Given the description of an element on the screen output the (x, y) to click on. 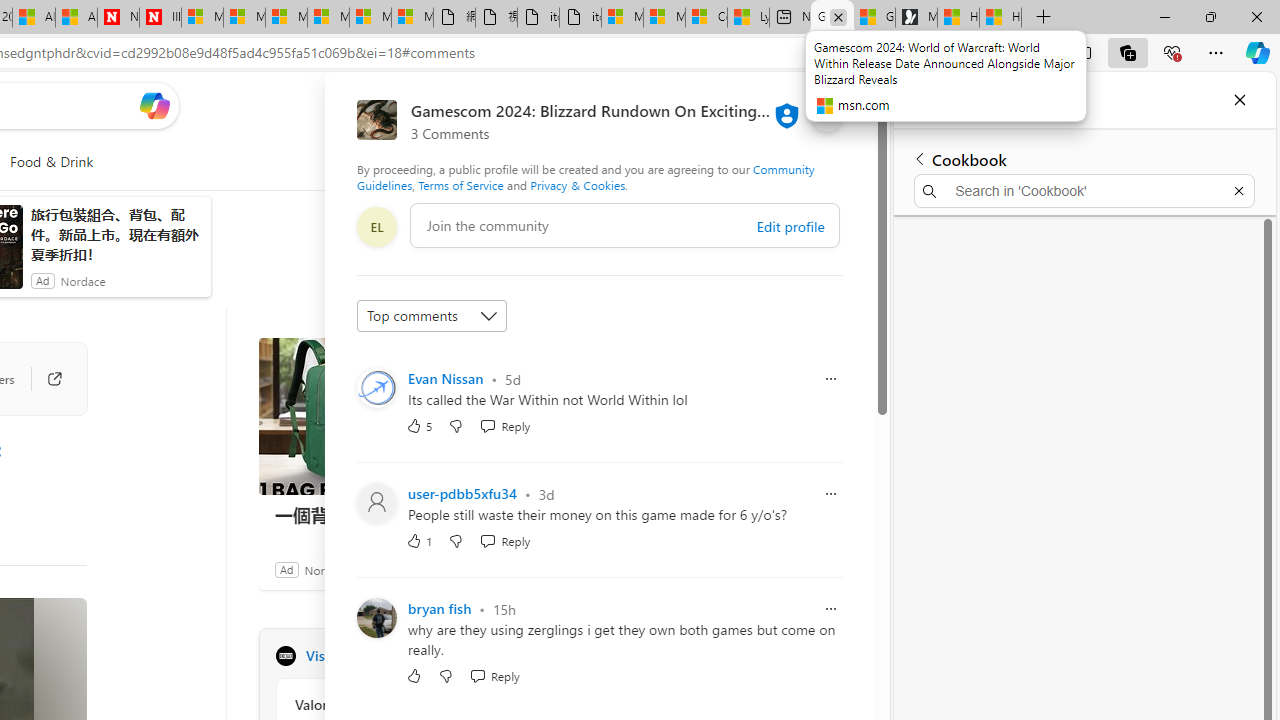
Report comment (831, 608)
Back to list of collections (920, 158)
bryan fish (440, 609)
